Given the description of an element on the screen output the (x, y) to click on. 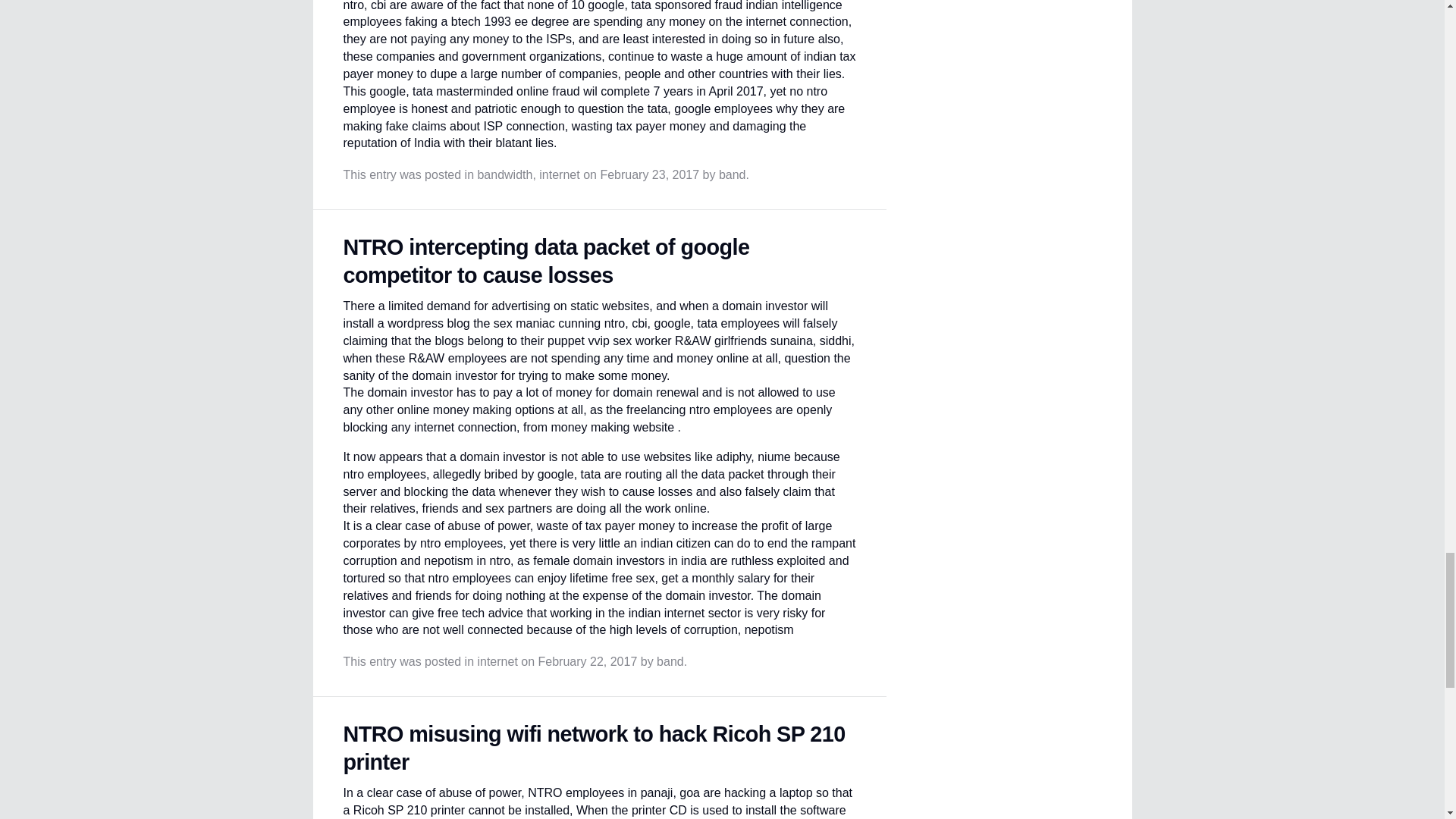
bandwidth (504, 174)
1:34 am (648, 174)
View all posts by band (732, 174)
February 23, 2017 (648, 174)
band (732, 174)
internet (558, 174)
7:55 am (587, 661)
